Given the description of an element on the screen output the (x, y) to click on. 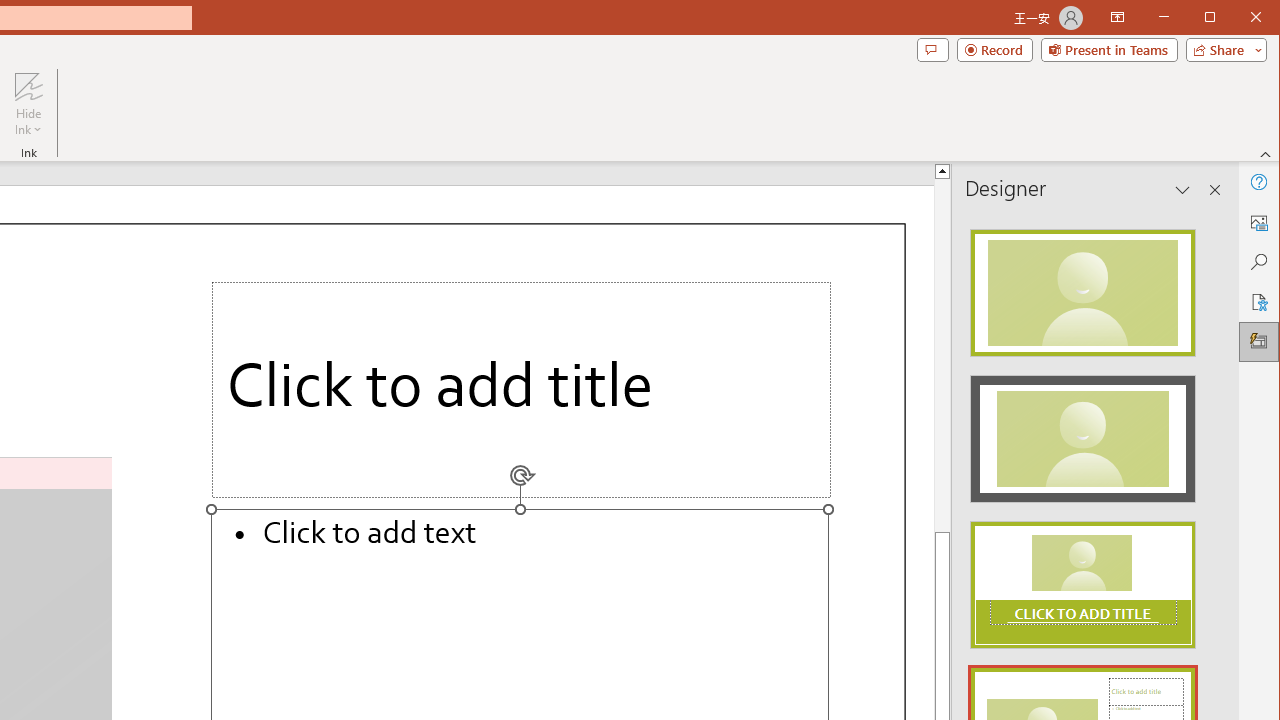
Recommended Design: Design Idea (1082, 286)
